Given the description of an element on the screen output the (x, y) to click on. 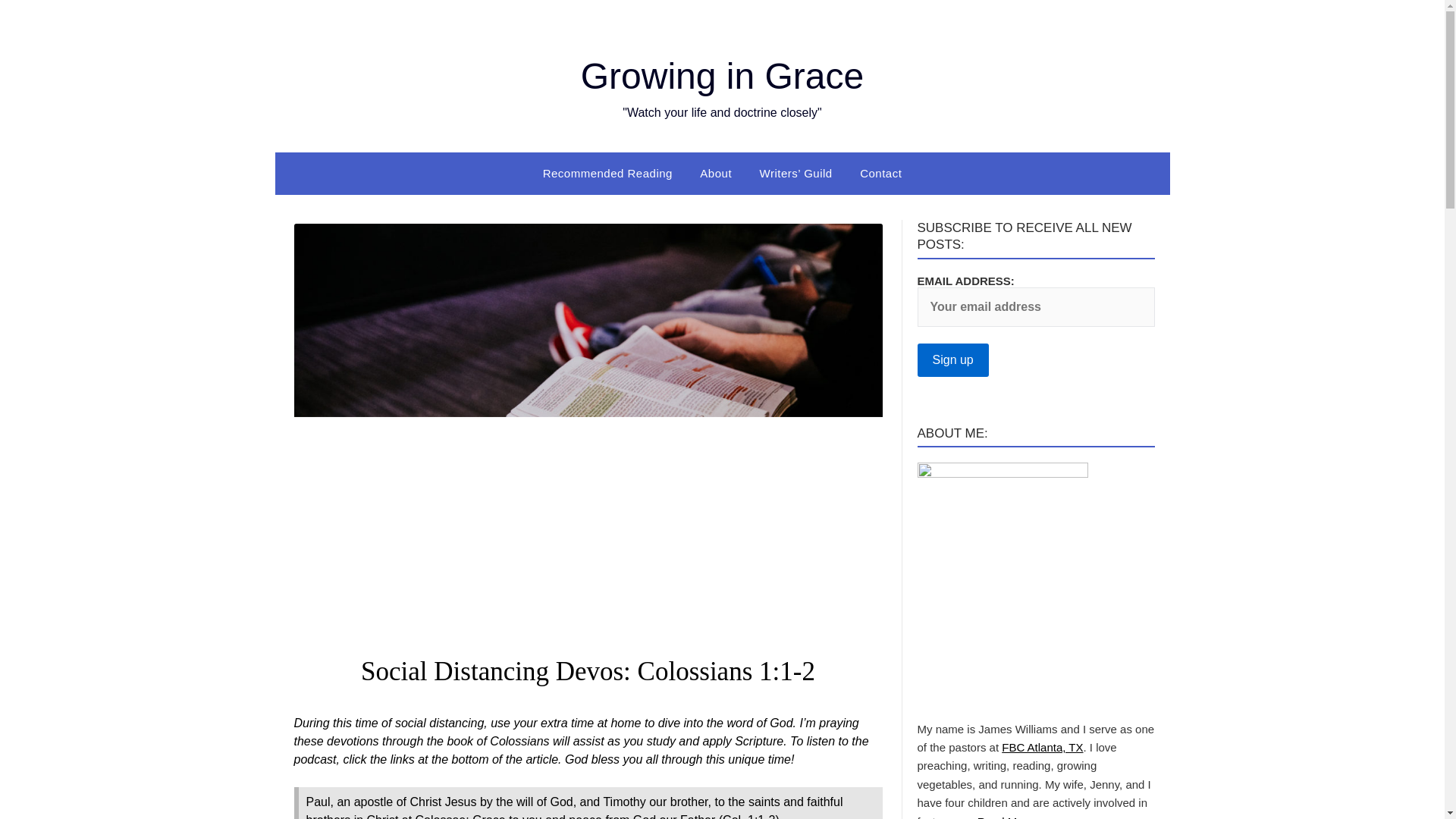
Recommended Reading (607, 173)
Contact (880, 173)
Sign up (952, 359)
Growing in Grace (721, 76)
Read More (1004, 816)
Sign up (952, 359)
About (715, 173)
FBC Atlanta, TX (1042, 747)
